Given the description of an element on the screen output the (x, y) to click on. 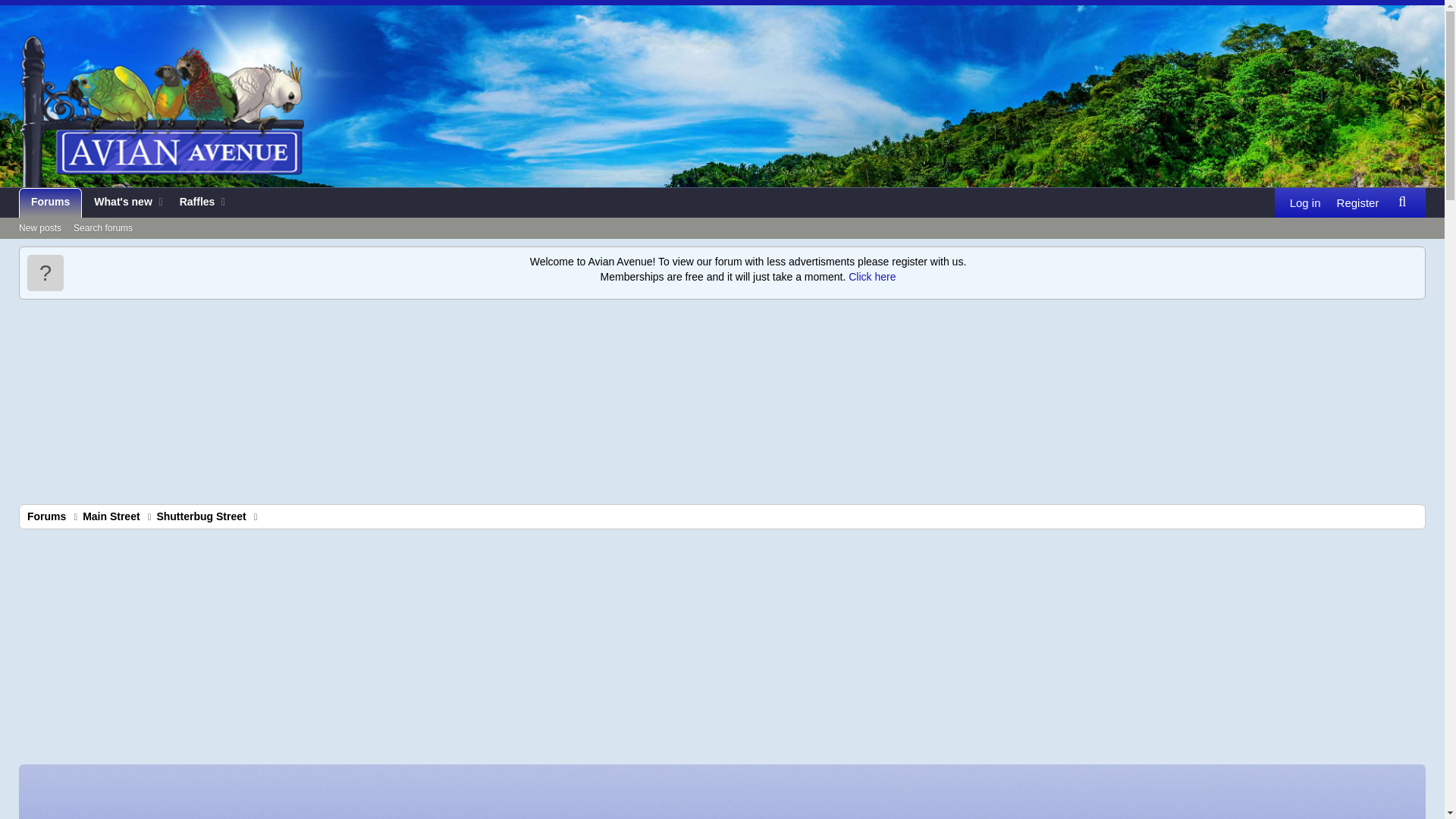
Search (1402, 202)
Log in (1304, 203)
Shutterbug Street (200, 516)
Raffles (192, 203)
Main Street (110, 516)
Forums (50, 203)
Register (1357, 203)
Search forums (102, 228)
What's new (722, 245)
